Given the description of an element on the screen output the (x, y) to click on. 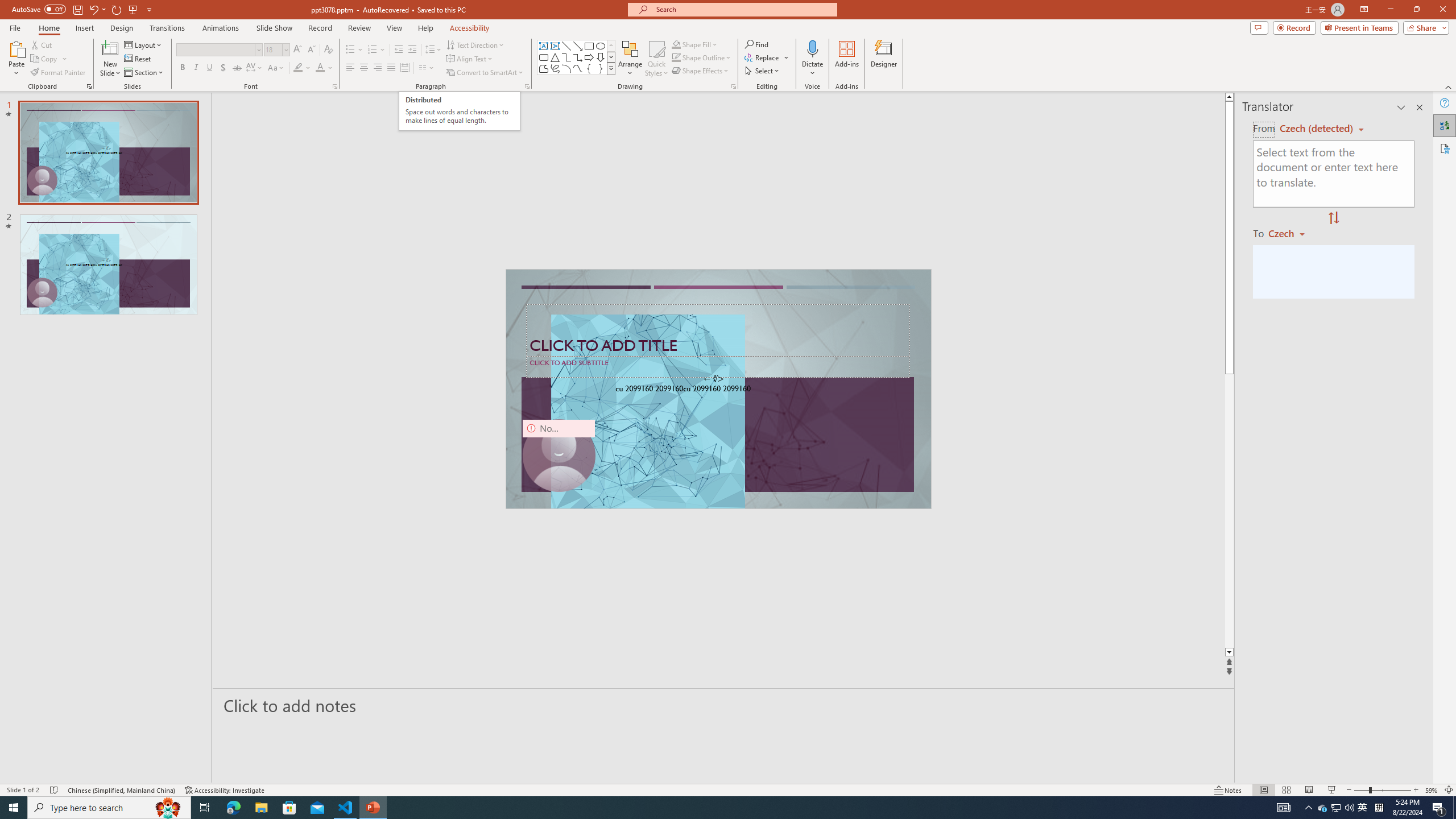
Shape Fill Dark Green, Accent 2 (675, 44)
Zoom 59% (1431, 790)
